Given the description of an element on the screen output the (x, y) to click on. 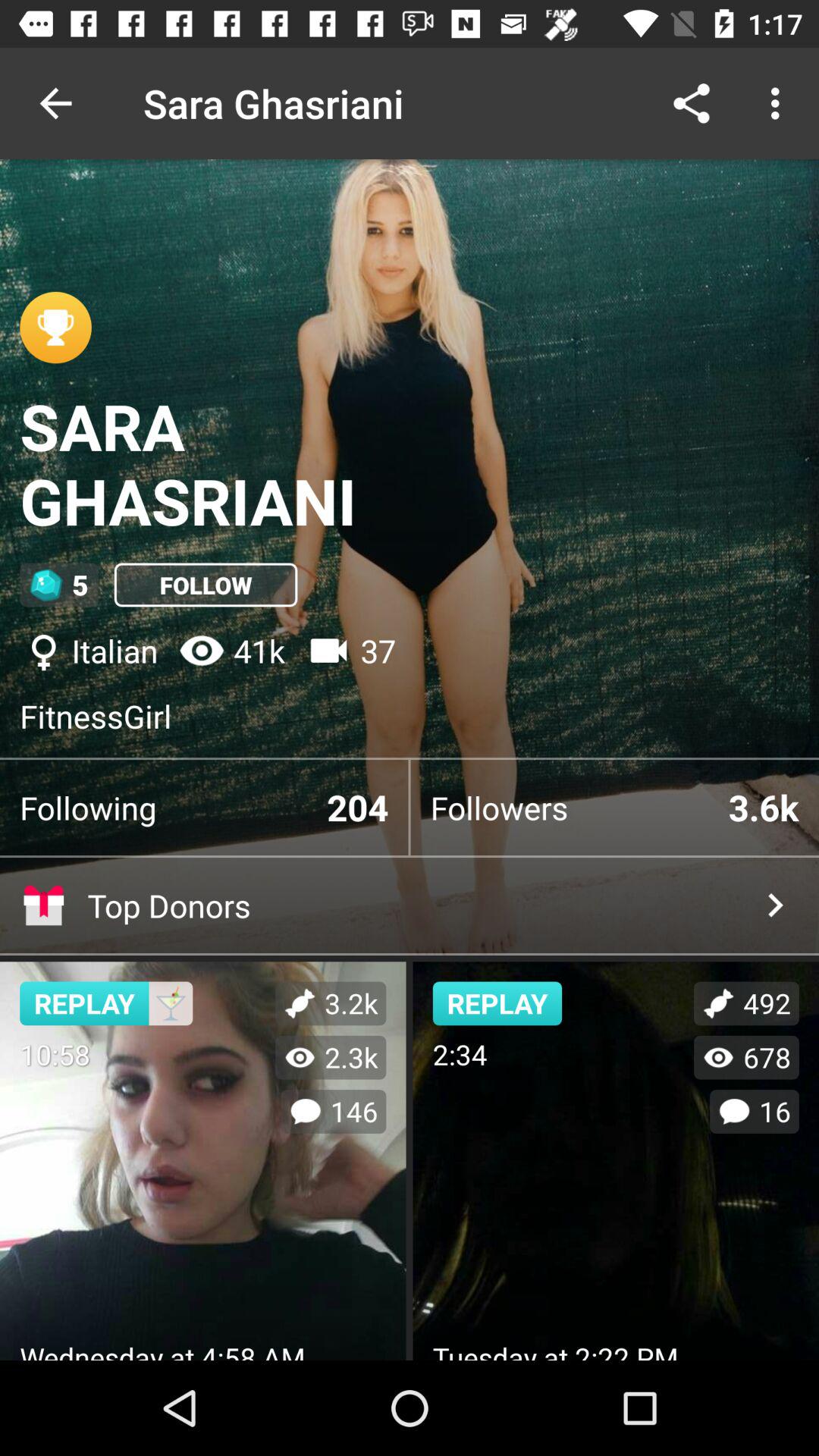
click the item below sara
ghasriani (58, 584)
